Given the description of an element on the screen output the (x, y) to click on. 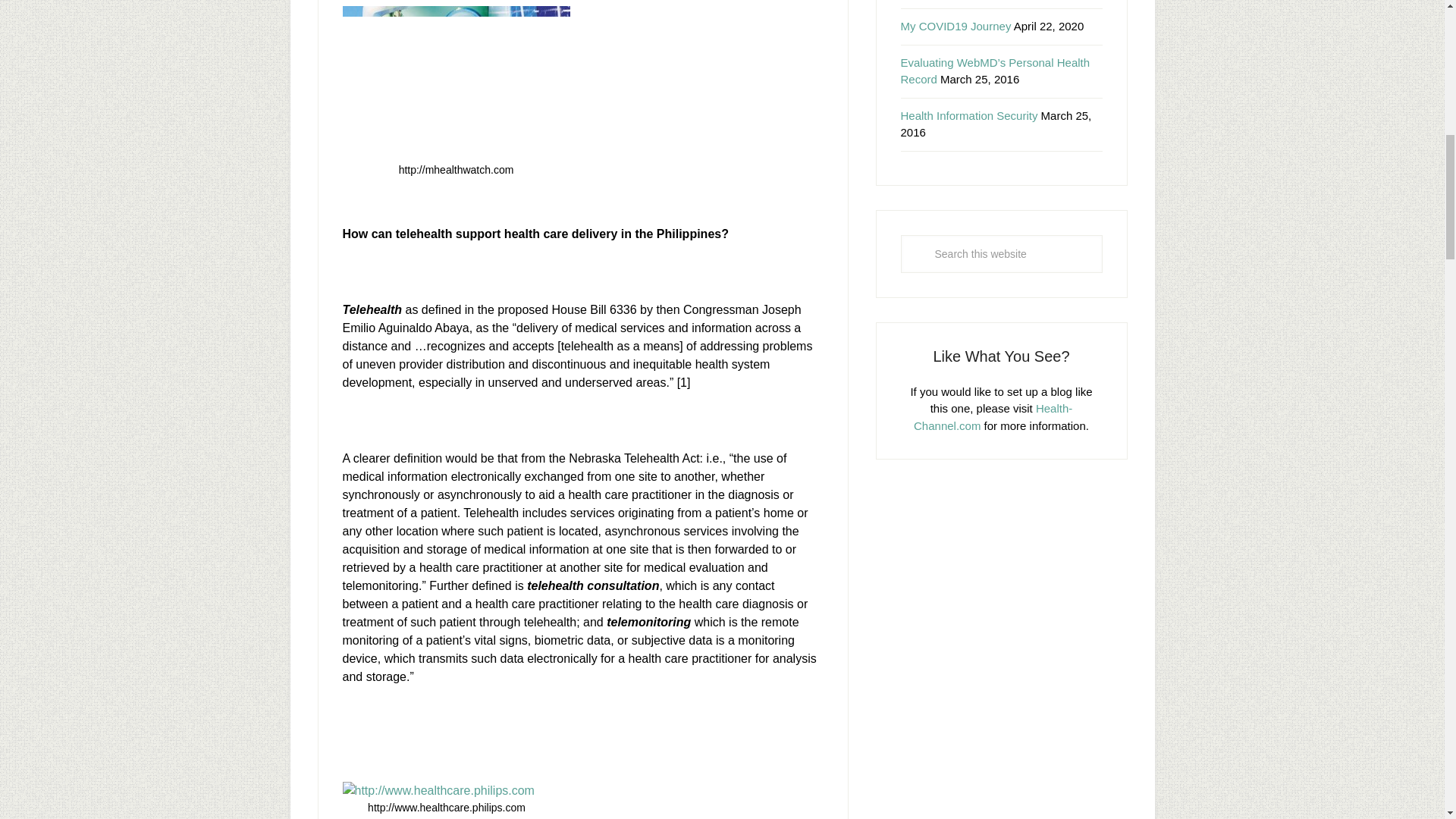
Health-Channel.com (992, 417)
My COVID19 Journey (956, 25)
Health Information Security (969, 115)
